Given the description of an element on the screen output the (x, y) to click on. 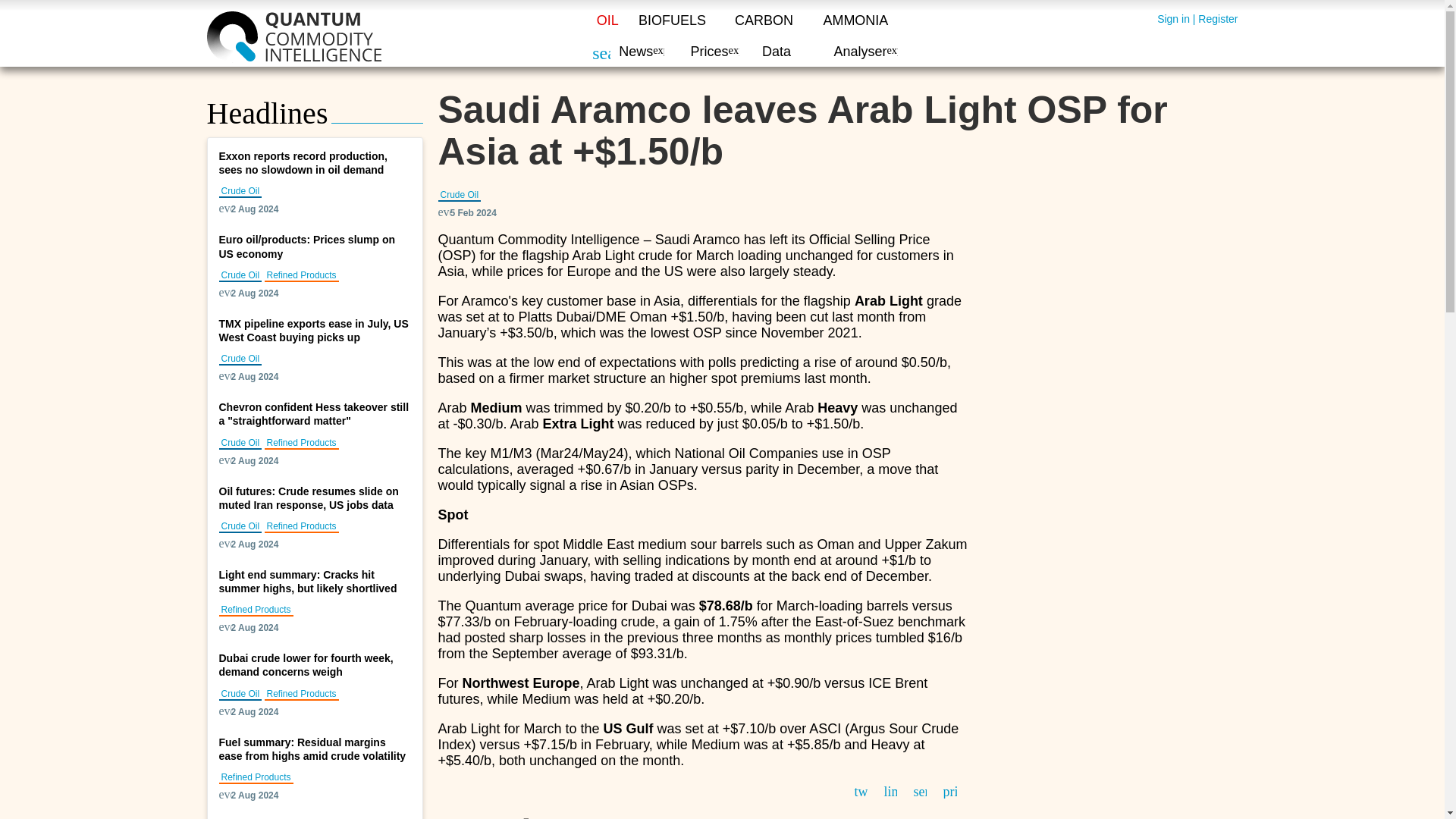
Register (1217, 19)
AMMONIA (855, 19)
linkedin (889, 789)
twitter (860, 789)
Quantum Commodity Intelligence (293, 37)
Data (775, 51)
Crude Oil (459, 195)
Sign in (1173, 19)
CARBON (764, 19)
Print (949, 789)
Share by email (919, 789)
Share in LinkedIn (889, 789)
OIL (607, 19)
Share in Twitter (860, 789)
send (919, 789)
